Given the description of an element on the screen output the (x, y) to click on. 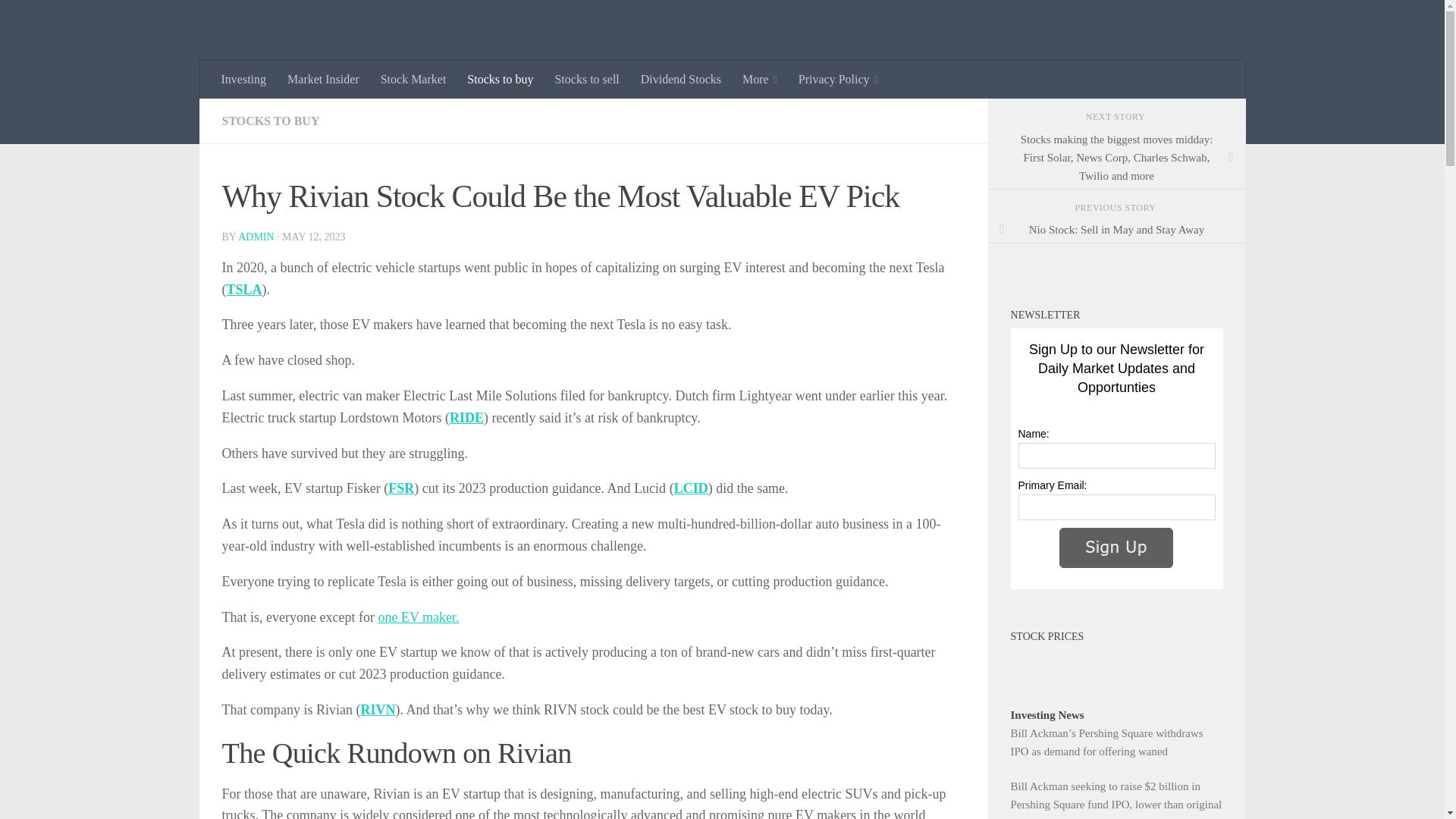
Skip to content (59, 20)
Posts by admin (255, 236)
LCID (690, 488)
Investing (244, 79)
RIDE (466, 417)
ADMIN (255, 236)
Stocks to sell (585, 79)
one EV maker. (417, 616)
TSLA (243, 289)
FSR (400, 488)
Market Insider (322, 79)
More (759, 79)
Privacy Policy (837, 79)
RIVN (376, 709)
STOCKS TO BUY (269, 120)
